Given the description of an element on the screen output the (x, y) to click on. 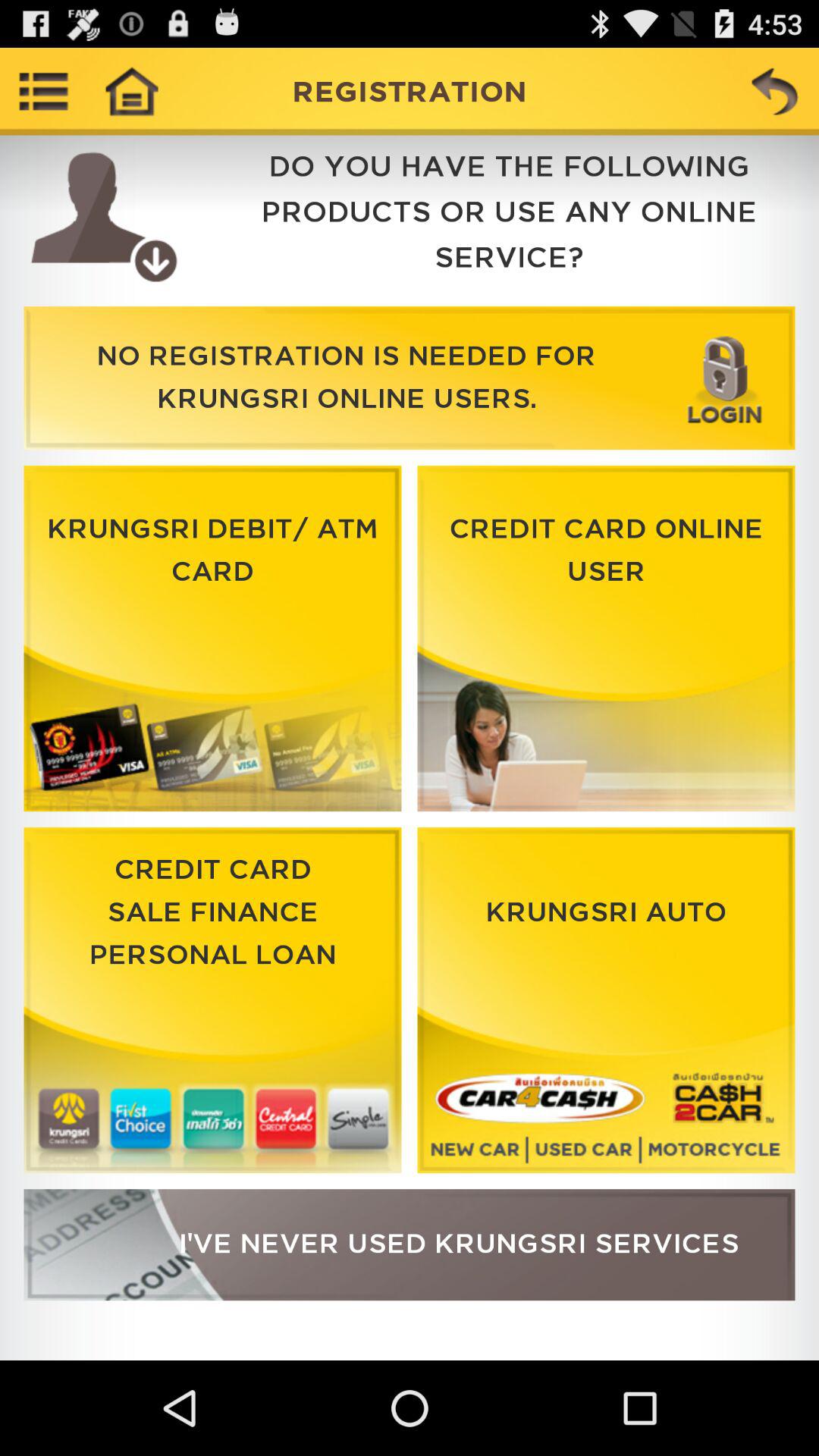
register account option (409, 1244)
